Given the description of an element on the screen output the (x, y) to click on. 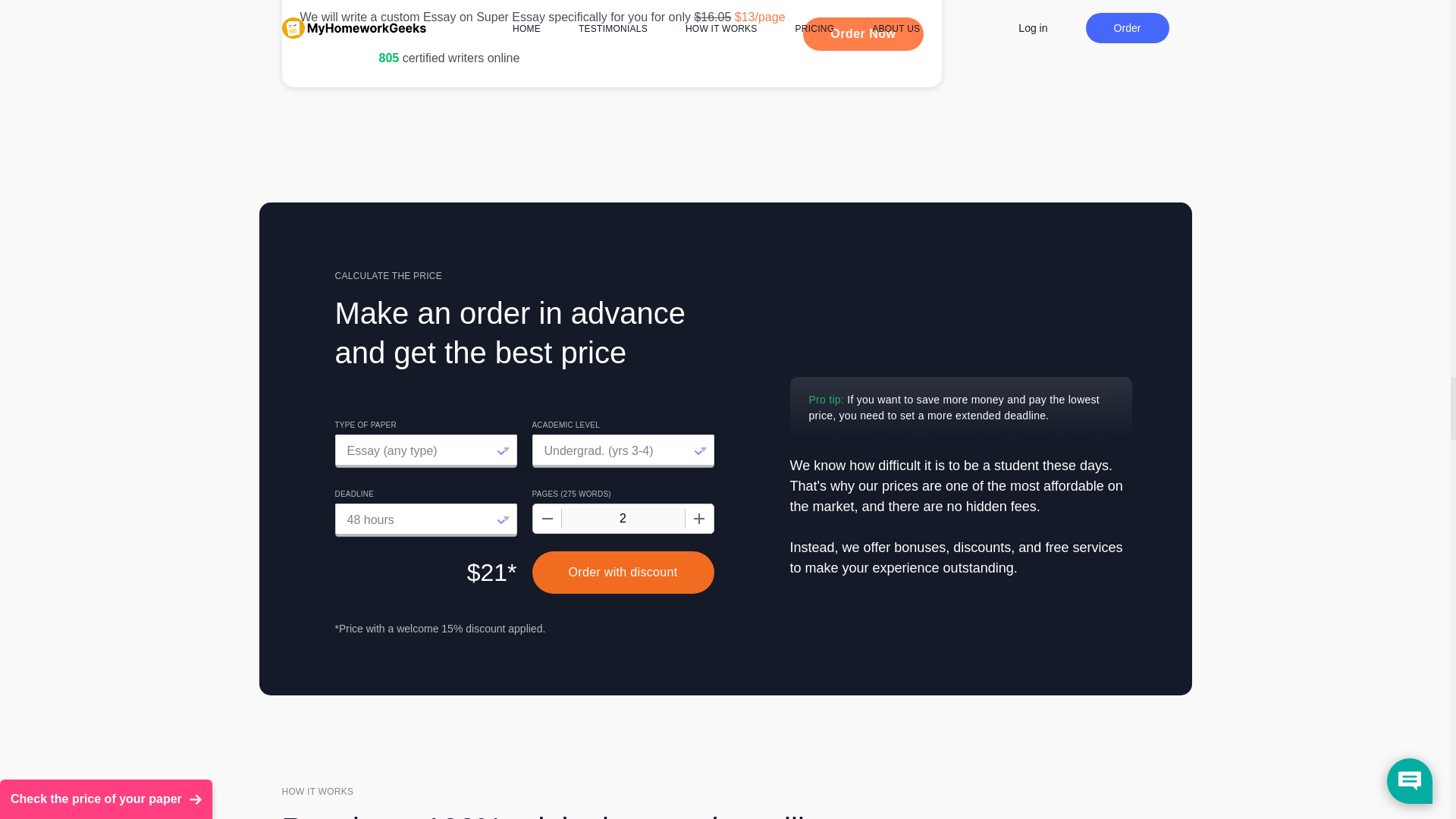
Increase (698, 518)
Learn More (612, 43)
Order with discount (623, 572)
Decrease (546, 518)
Check the price of your paper (106, 221)
Check the price of your paper (106, 221)
2 (622, 518)
Learn More (863, 33)
